Given the description of an element on the screen output the (x, y) to click on. 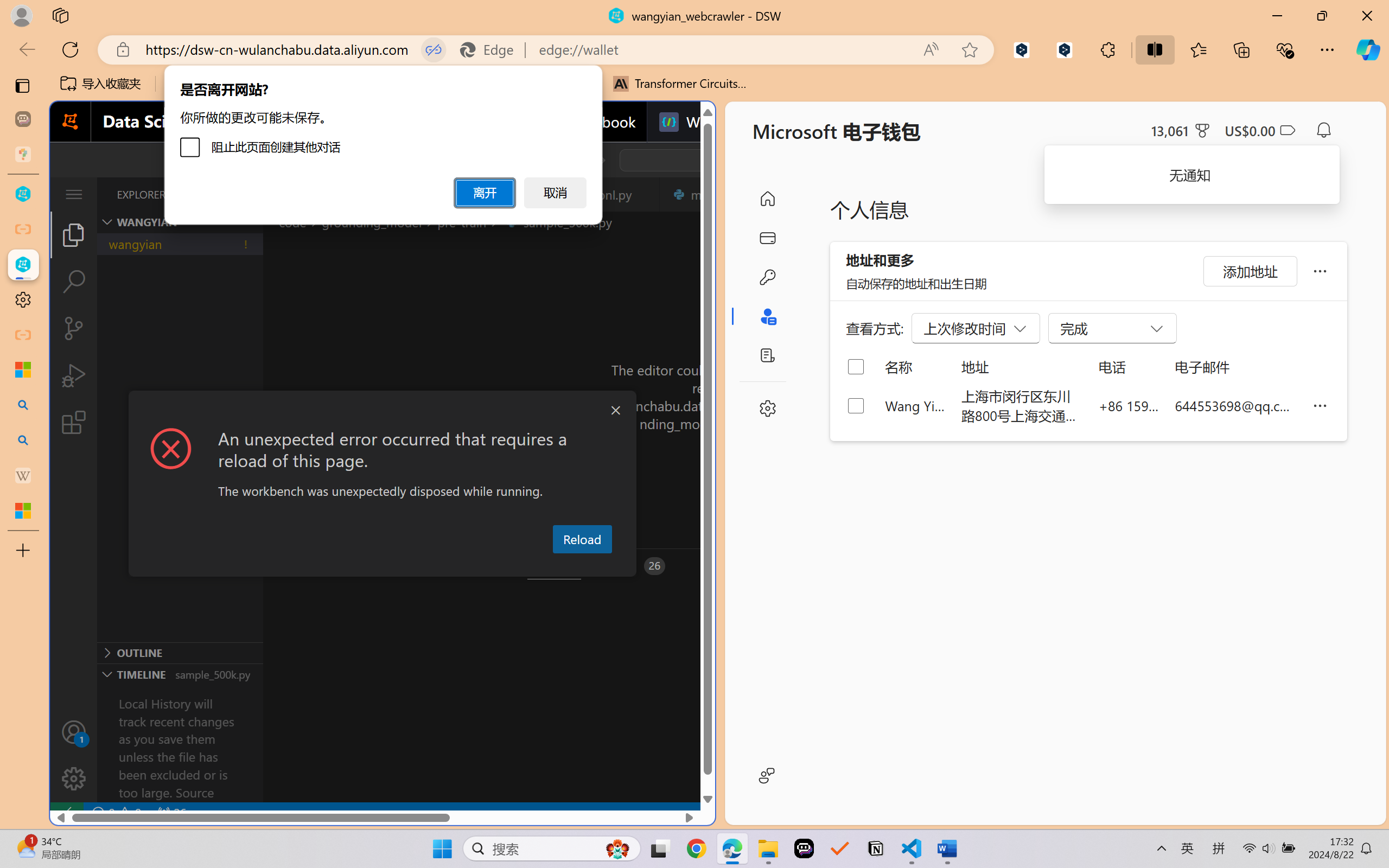
wangyian_webcrawler - DSW (22, 264)
wangyian_dsw - DSW (22, 194)
Class: menubar compact overflow-menu-only (73, 194)
Reload (581, 538)
